Given the description of an element on the screen output the (x, y) to click on. 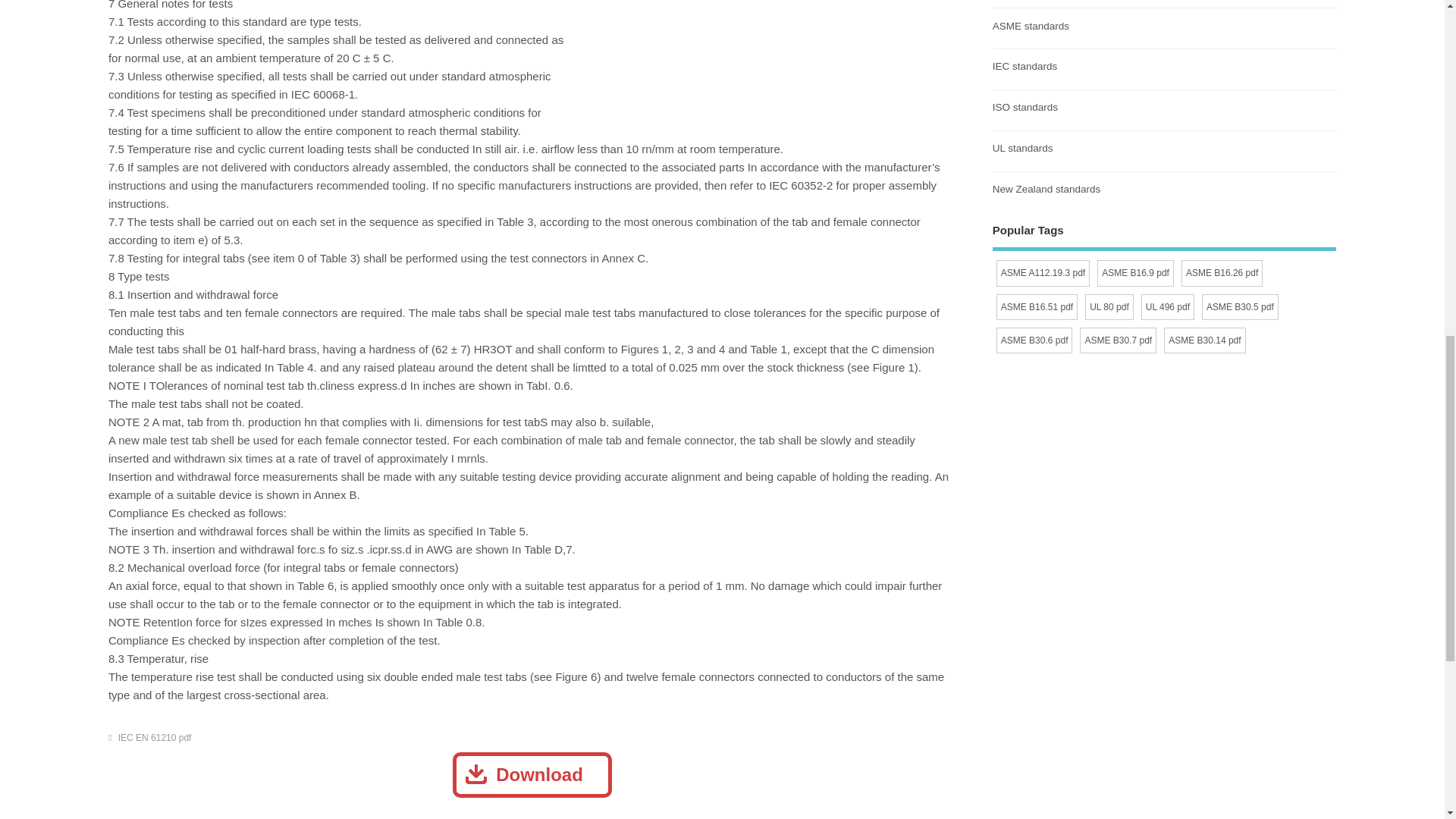
ASME A112.19.3 pdf (1042, 272)
UL 496 pdf (1167, 307)
IEC EN 61210 pdf (154, 737)
ASME B30.14 pdf (1203, 339)
ASME B16.51 pdf (1036, 307)
New Zealand standards (1046, 188)
ASME B30.5 pdf (1240, 307)
ASME B16.26 pdf (1221, 272)
ASME B16.9 pdf (1135, 272)
ASME standards (1030, 25)
